Given the description of an element on the screen output the (x, y) to click on. 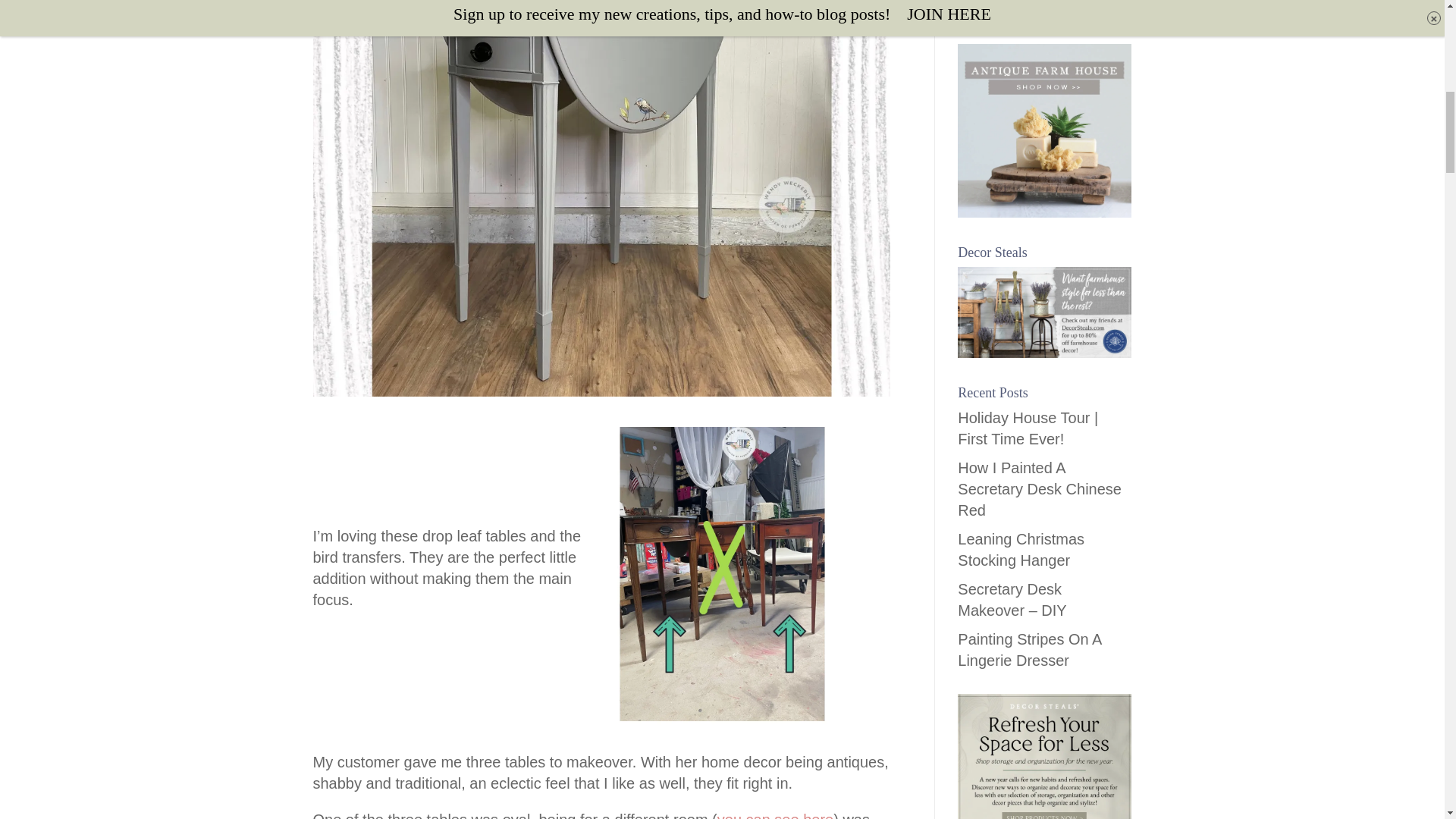
you can see here (774, 815)
drop leaf tables (722, 574)
